Given the description of an element on the screen output the (x, y) to click on. 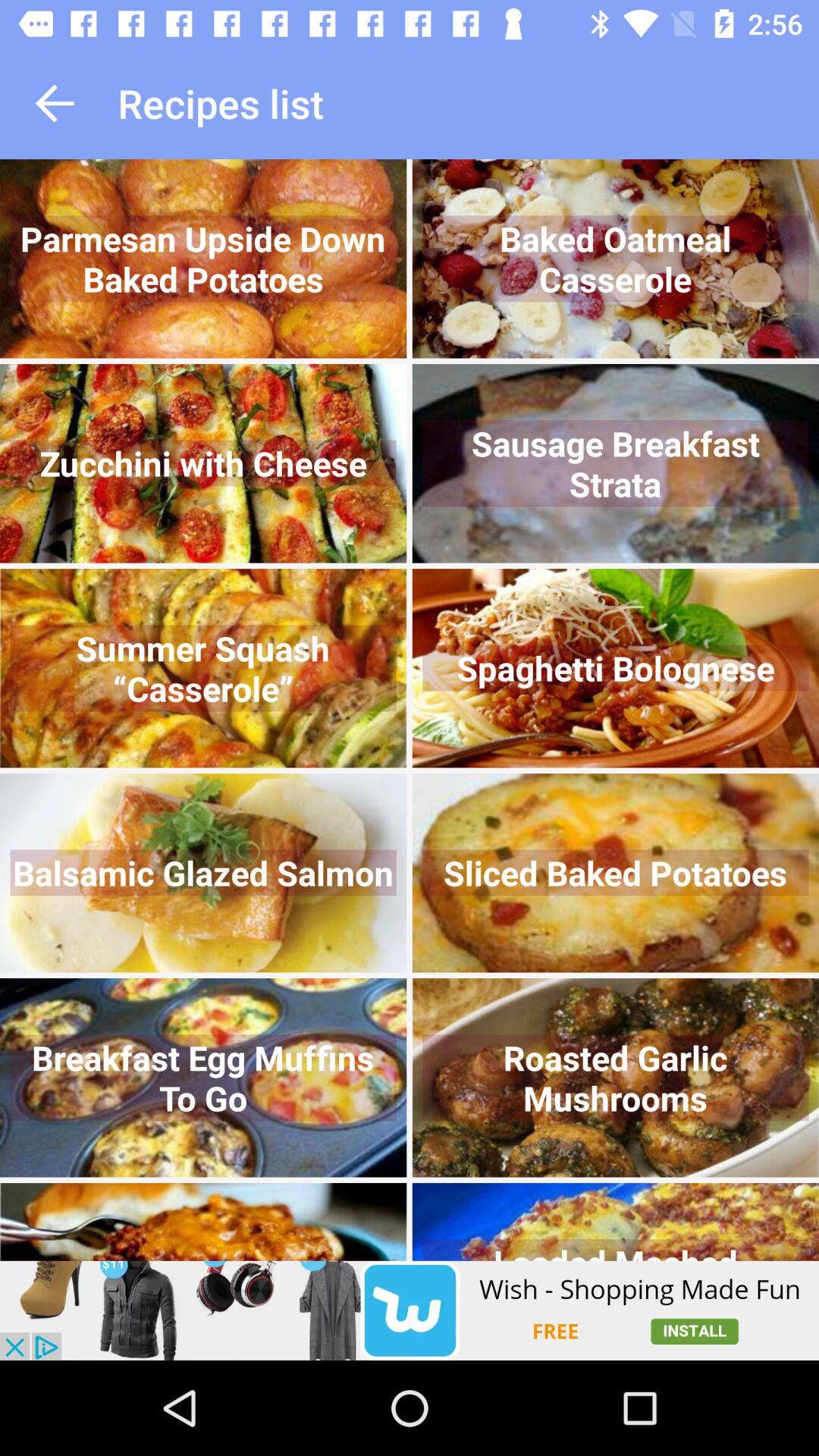
it is go to previous page (54, 103)
